Given the description of an element on the screen output the (x, y) to click on. 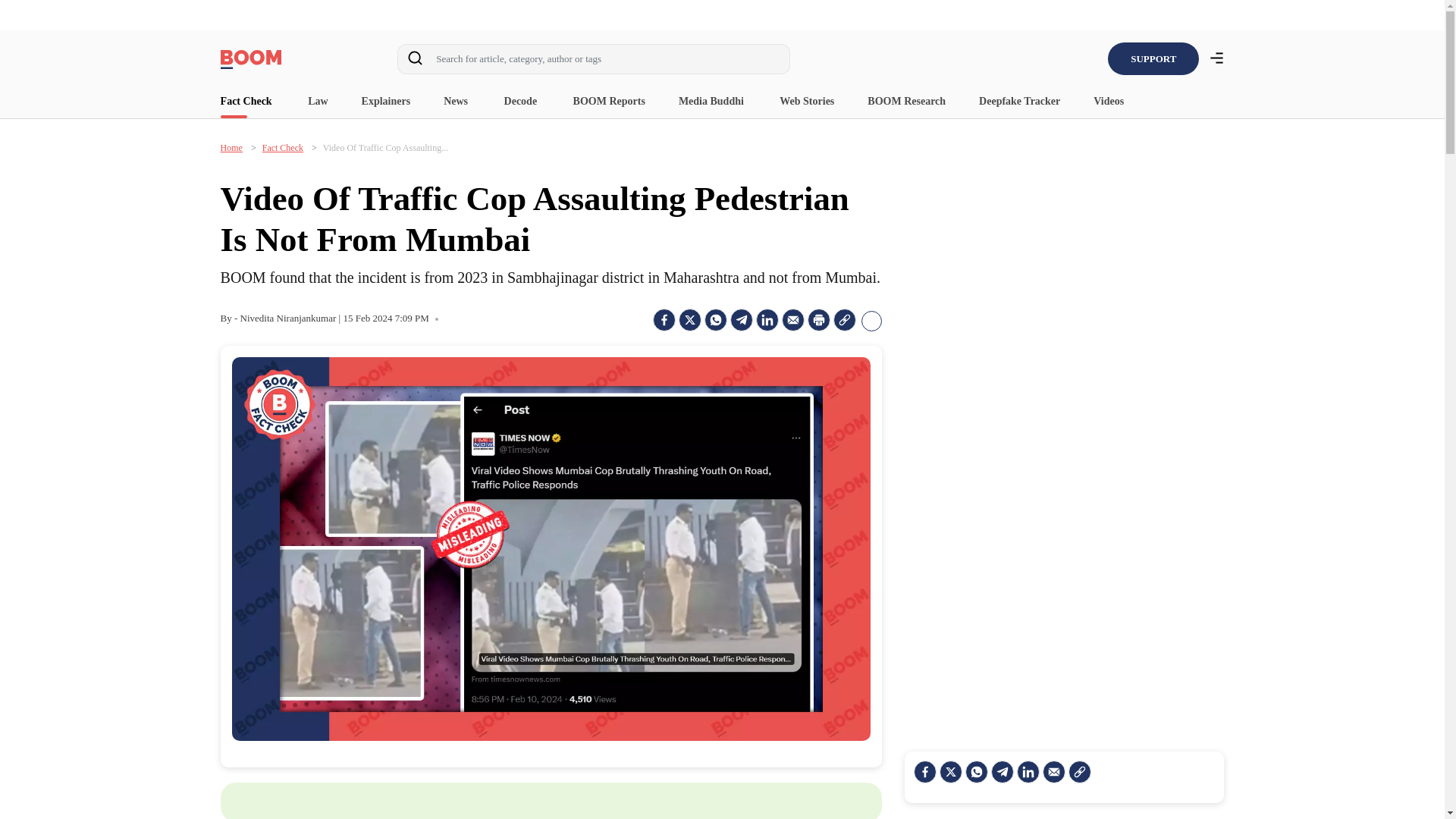
News  (457, 101)
BOOM Research (905, 101)
Explainers (385, 101)
SUPPORT (1153, 59)
Web Stories (806, 101)
Media Buddhi  (711, 101)
Share by Email (793, 319)
Start Search (414, 61)
Law (317, 101)
Videos  (1109, 101)
